Given the description of an element on the screen output the (x, y) to click on. 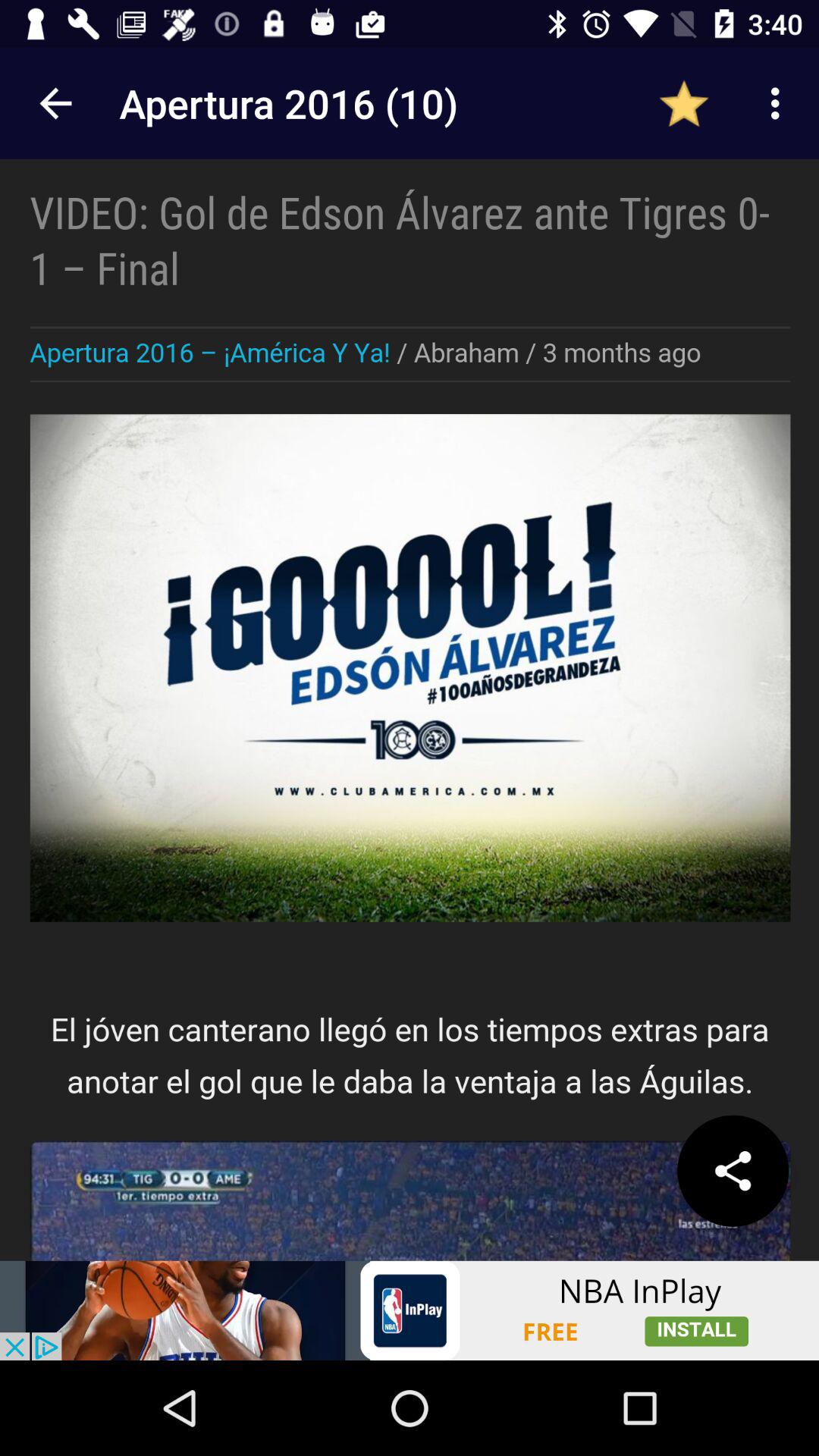
view advertisement (409, 1310)
